Given the description of an element on the screen output the (x, y) to click on. 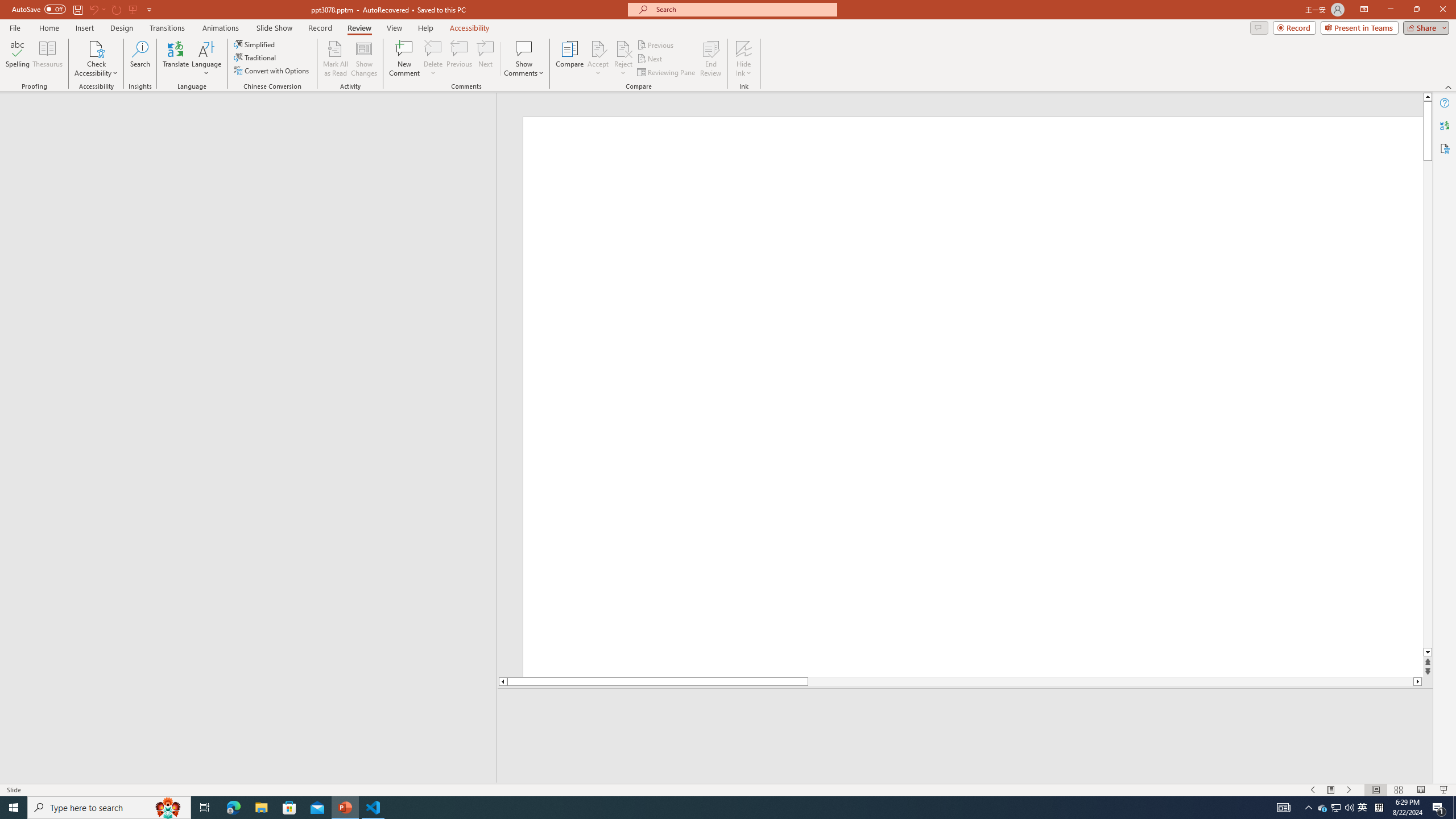
Show Comments (524, 58)
